Given the description of an element on the screen output the (x, y) to click on. 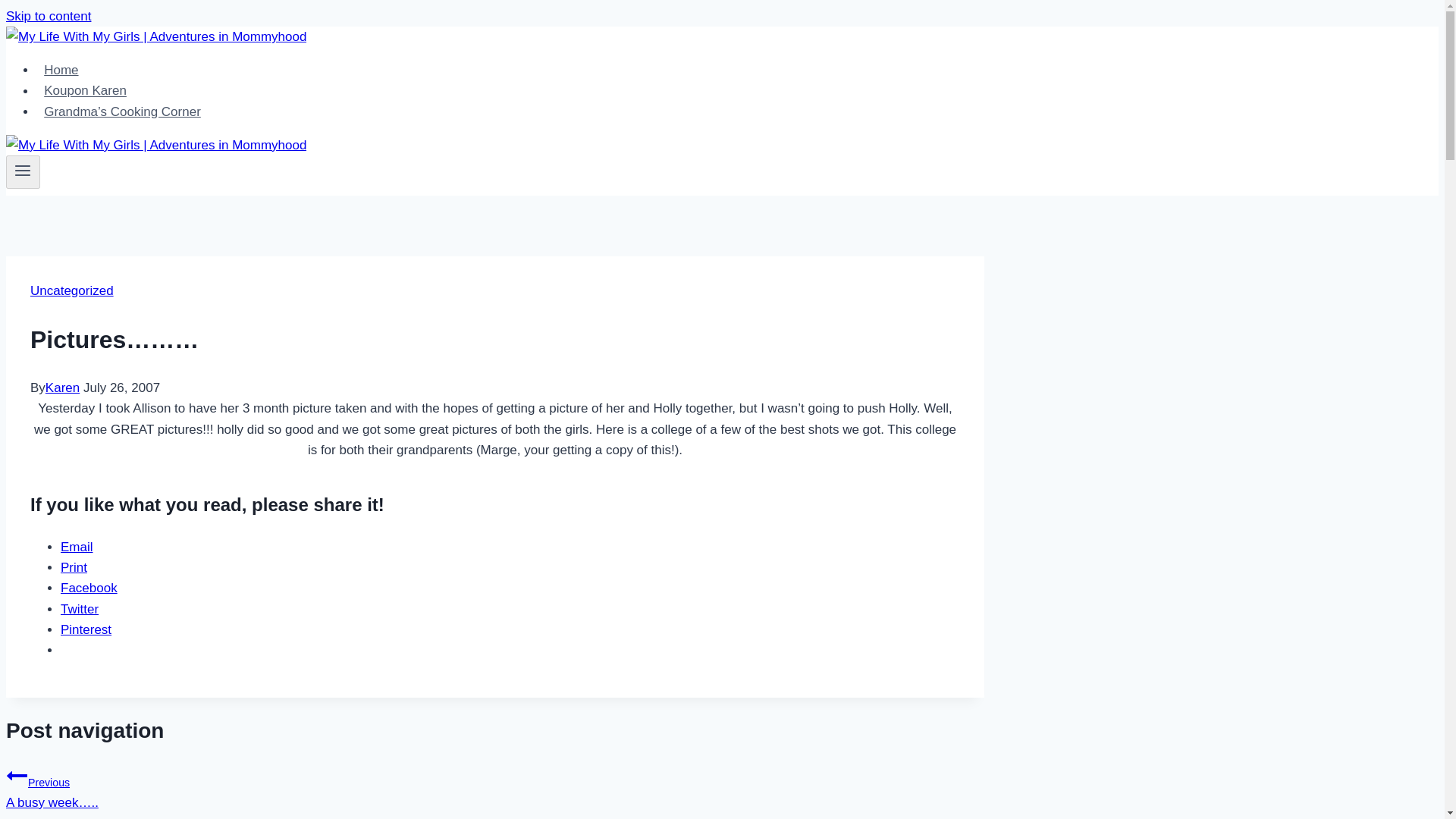
Pinterest (86, 629)
Toggle Menu (22, 170)
Twitter (80, 608)
Skip to content (47, 16)
Koupon Karen (84, 90)
Click to email a link to a friend (77, 546)
Click to share on Twitter (80, 608)
Click to share on Facebook (89, 587)
Click to share on Pinterest (86, 629)
Skip to content (47, 16)
